Given the description of an element on the screen output the (x, y) to click on. 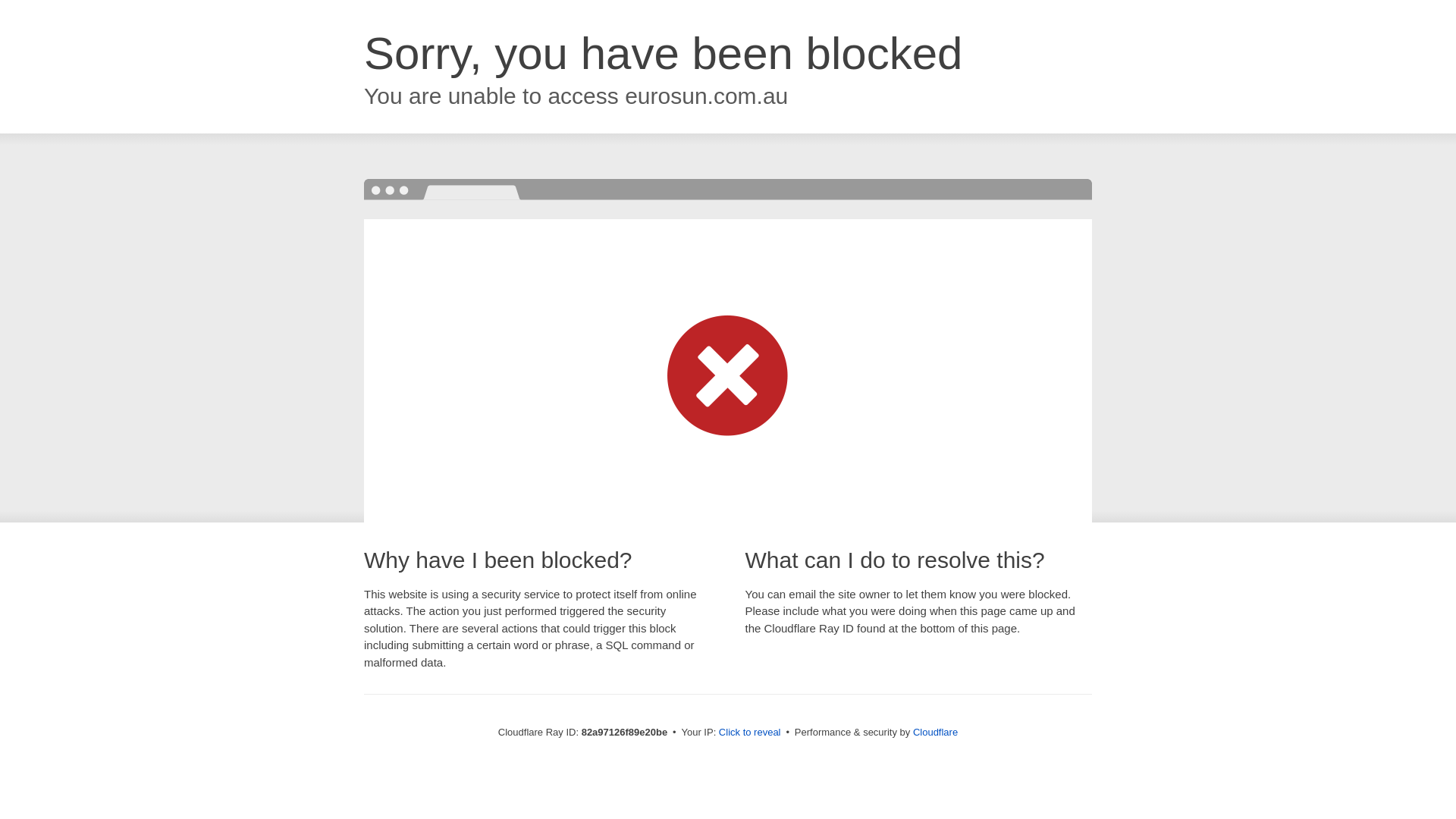
Click to reveal Element type: text (749, 732)
Cloudflare Element type: text (935, 731)
